Given the description of an element on the screen output the (x, y) to click on. 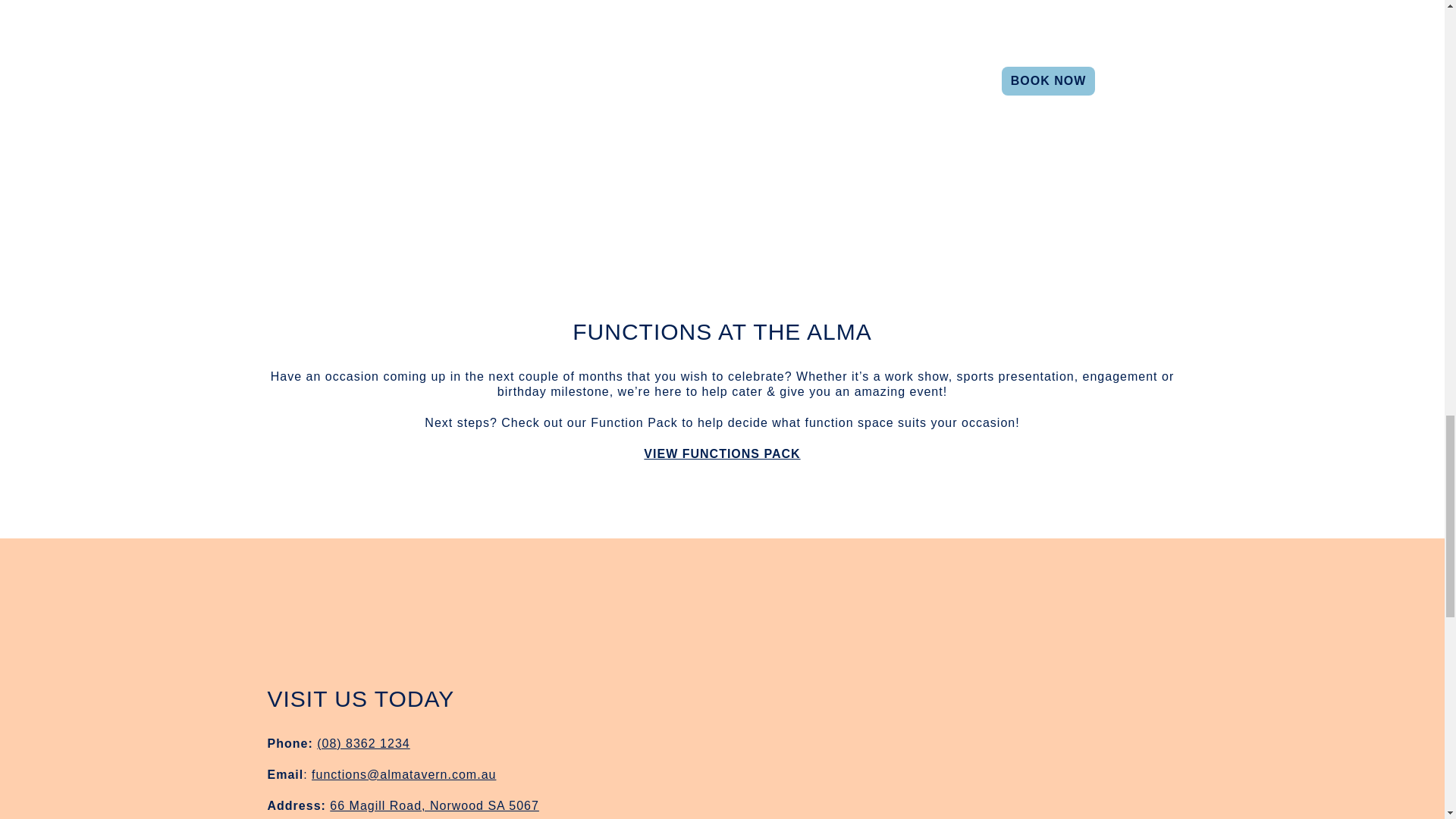
66 Magill Road, Norwood SA 5067 (434, 805)
VIEW FUNCTIONS PACK (721, 453)
